Given the description of an element on the screen output the (x, y) to click on. 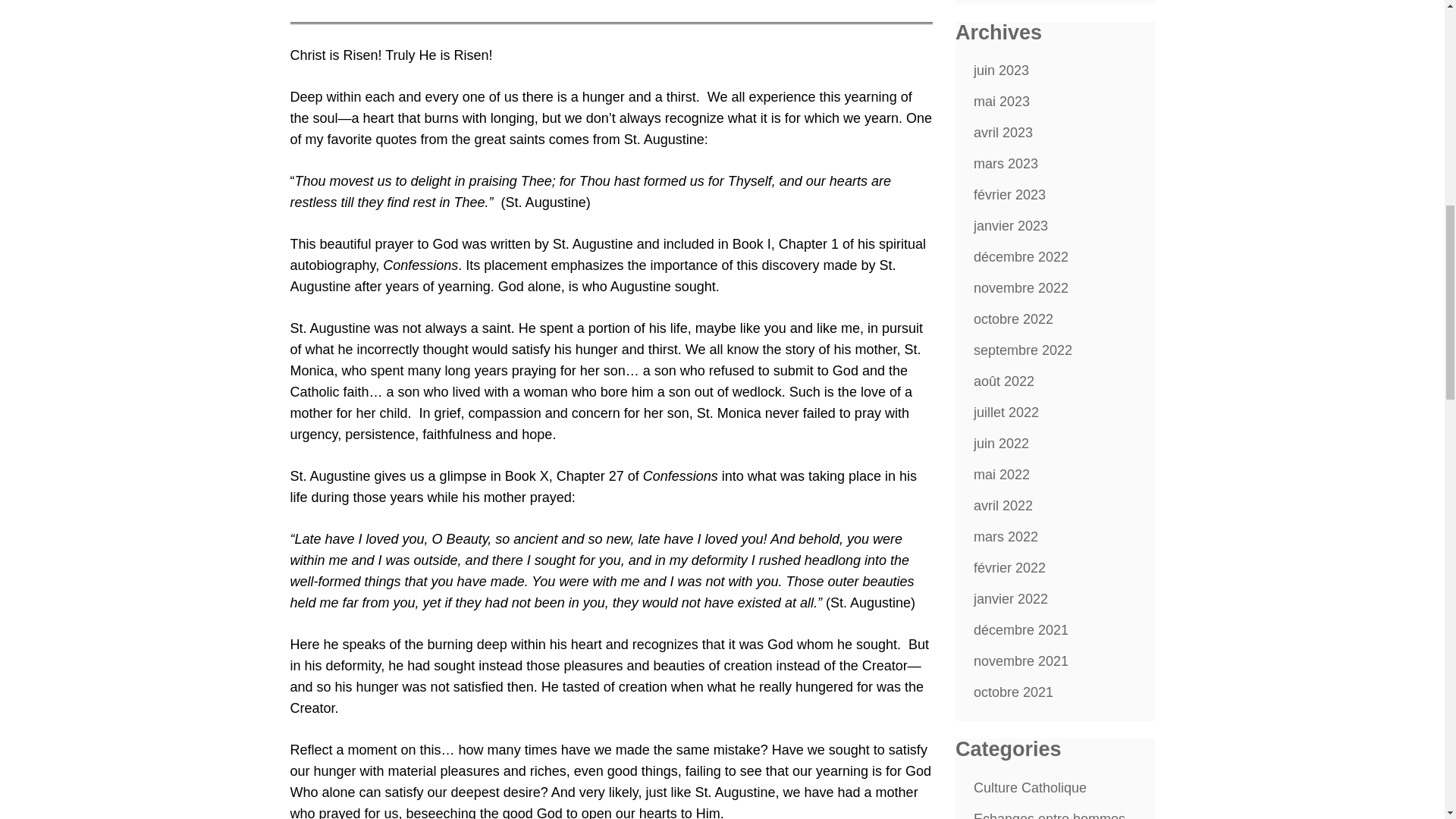
janvier 2023 (1011, 225)
octobre 2022 (1013, 319)
mai 2023 (1001, 101)
avril 2023 (1003, 132)
juin 2023 (1001, 70)
mars 2023 (1006, 163)
novembre 2022 (1021, 287)
